Given the description of an element on the screen output the (x, y) to click on. 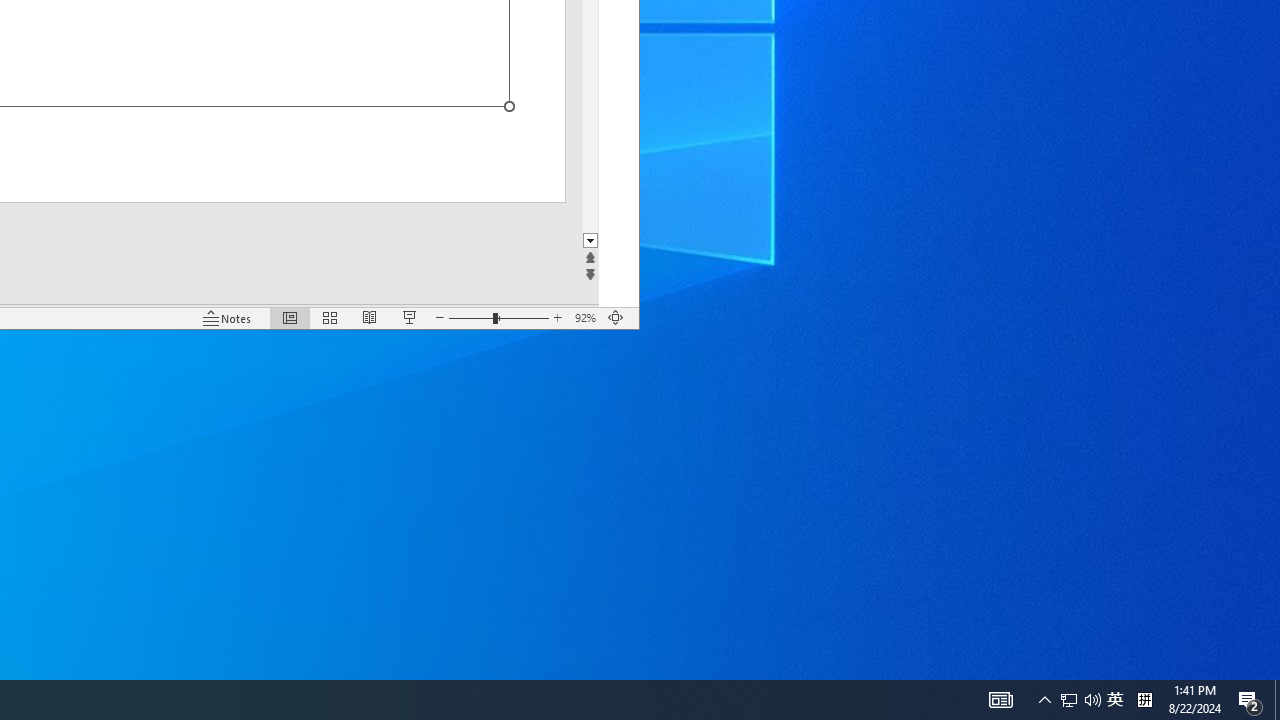
Zoom 92% (585, 318)
